Given the description of an element on the screen output the (x, y) to click on. 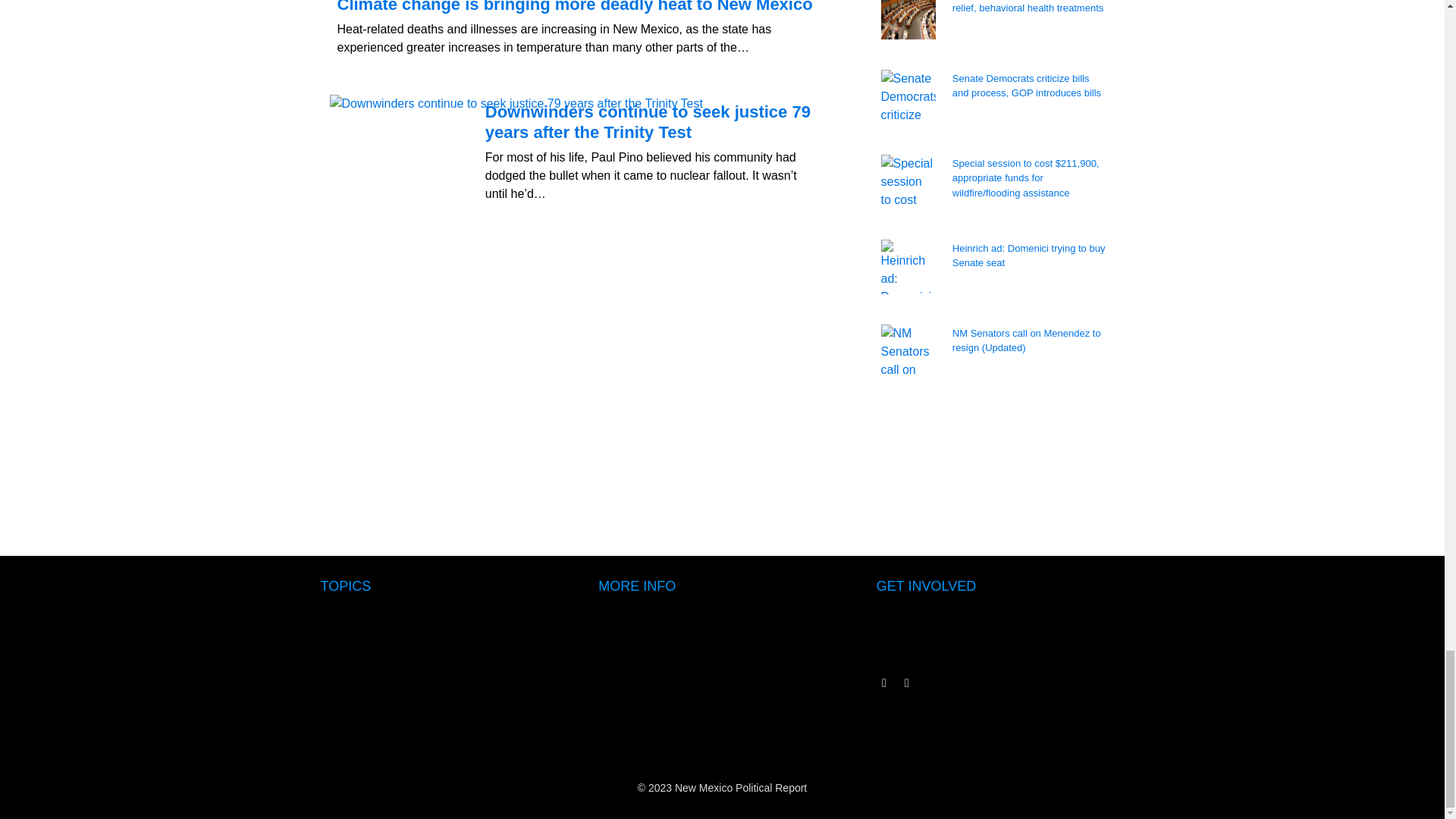
Climate change is bringing more deadly heat to New Mexico (575, 10)
